Given the description of an element on the screen output the (x, y) to click on. 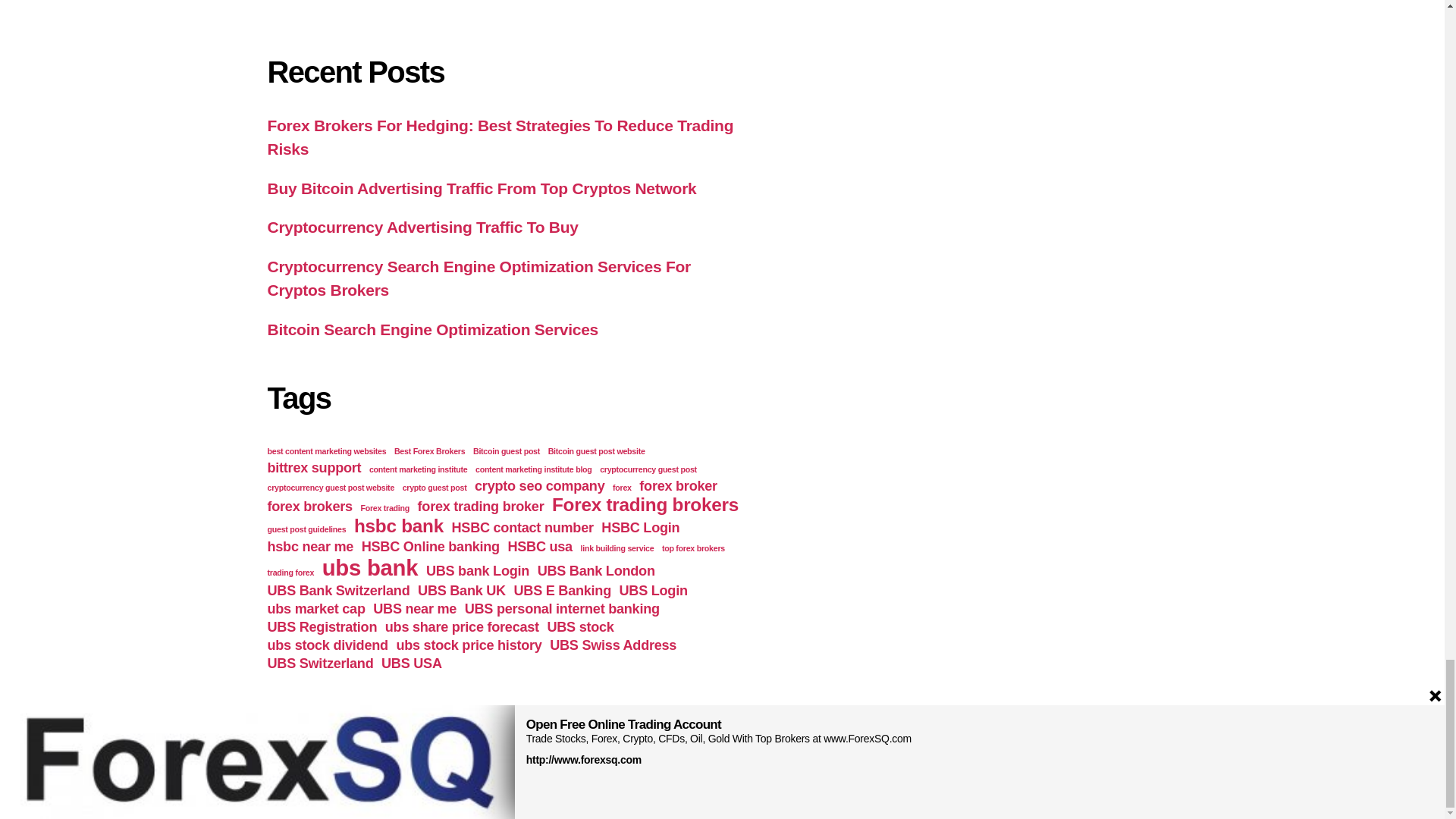
Buy Bitcoin Advertising Traffic From Top Cryptos Network (480, 188)
Cryptocurrency Advertising Traffic To Buy (422, 226)
bittrex support (313, 467)
content marketing institute blog (534, 469)
Best Forex Brokers (429, 450)
Bitcoin guest post website (596, 450)
Bitcoin guest post (506, 450)
cryptocurrency guest post website (330, 487)
best content marketing websites (325, 450)
